Given the description of an element on the screen output the (x, y) to click on. 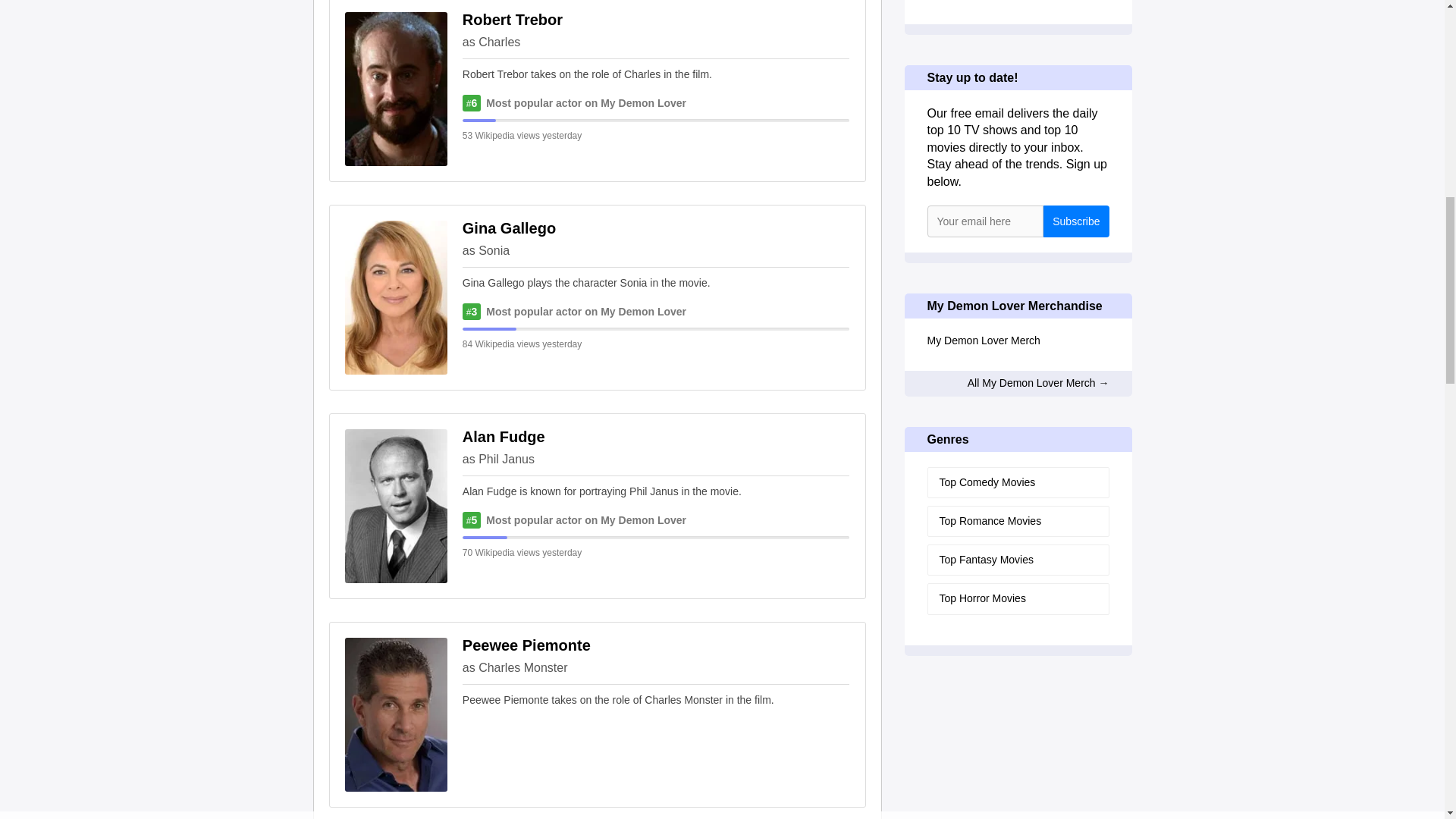
Top Fantasy Movies (1017, 559)
Top Horror Movies (1017, 598)
Top Romance Movies (1017, 521)
Subscribe (1075, 221)
My Demon Lover Merchandise (1017, 305)
My Demon Lover Merch (1017, 340)
Top Comedy Movies (1017, 481)
